Given the description of an element on the screen output the (x, y) to click on. 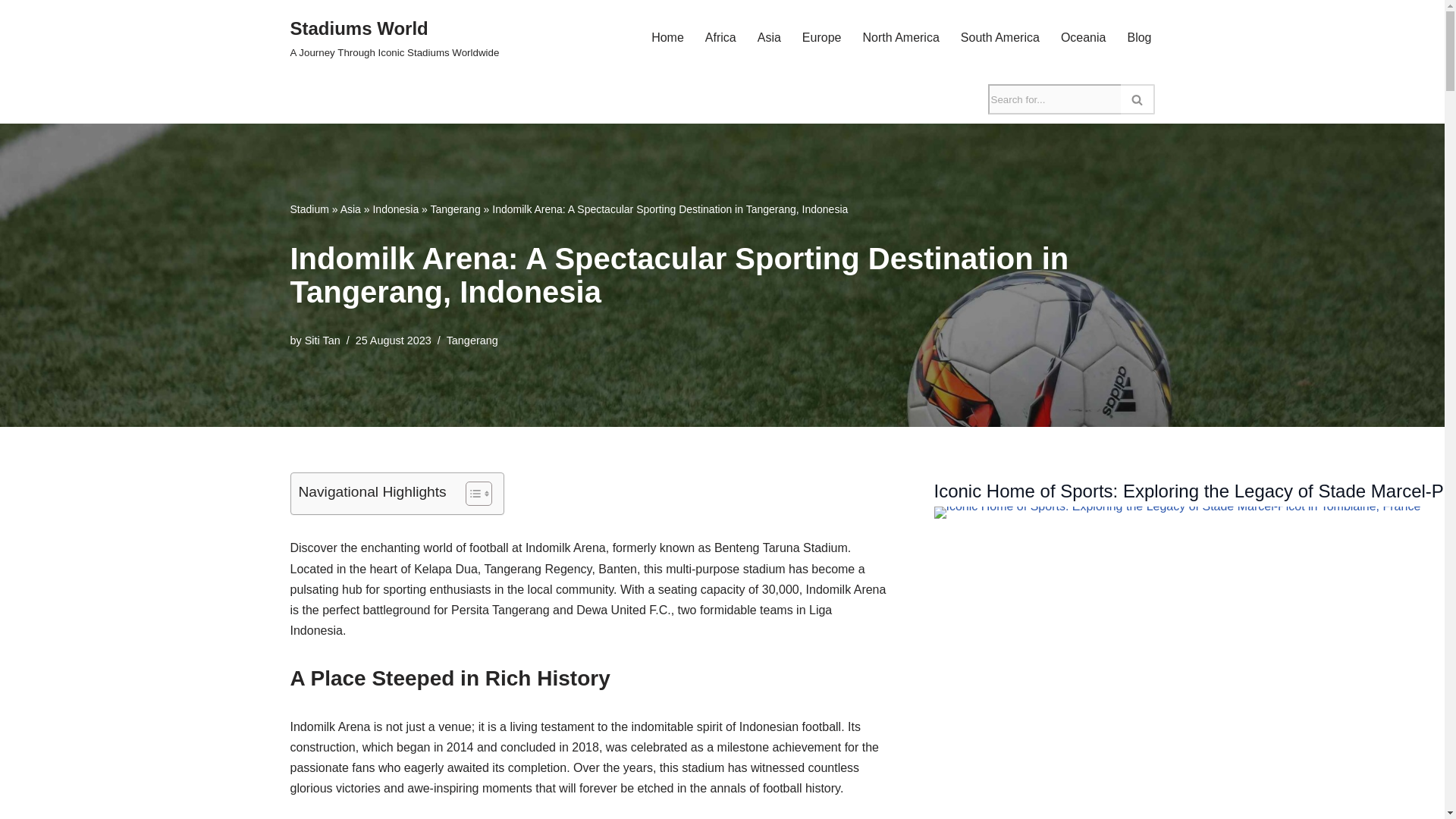
Posts by Siti Tan (322, 340)
Oceania (1083, 37)
Blog (1138, 37)
South America (999, 37)
Asia (768, 37)
Asia (350, 209)
Skip to content (11, 31)
North America (900, 37)
Tangerang (471, 340)
